Given the description of an element on the screen output the (x, y) to click on. 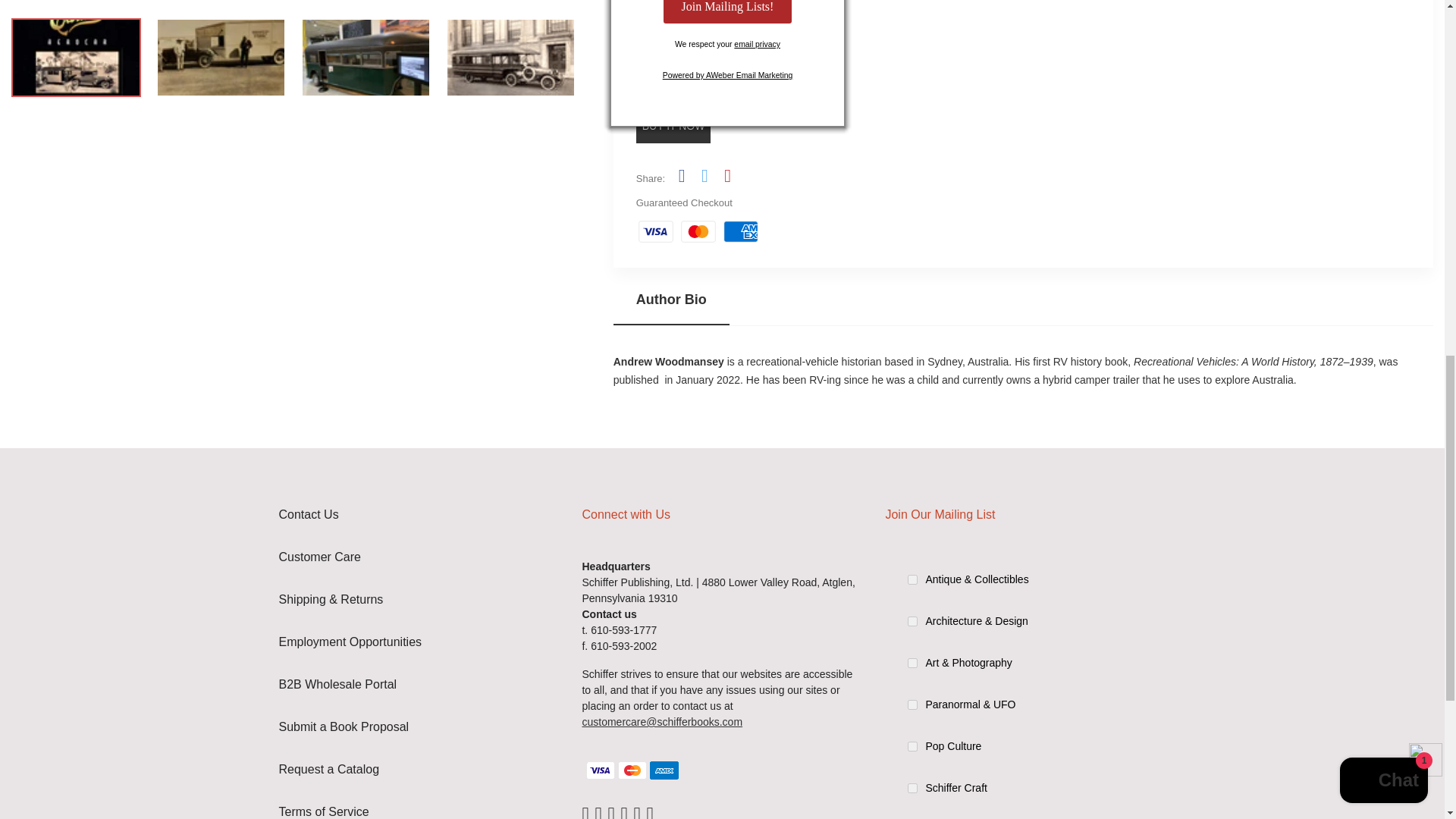
yes (912, 816)
1 (673, 18)
Follow us on Pinterest (726, 175)
Follow us on Twitter (704, 175)
Follow us on Facebook (681, 175)
Privacy Policy (756, 44)
